Given the description of an element on the screen output the (x, y) to click on. 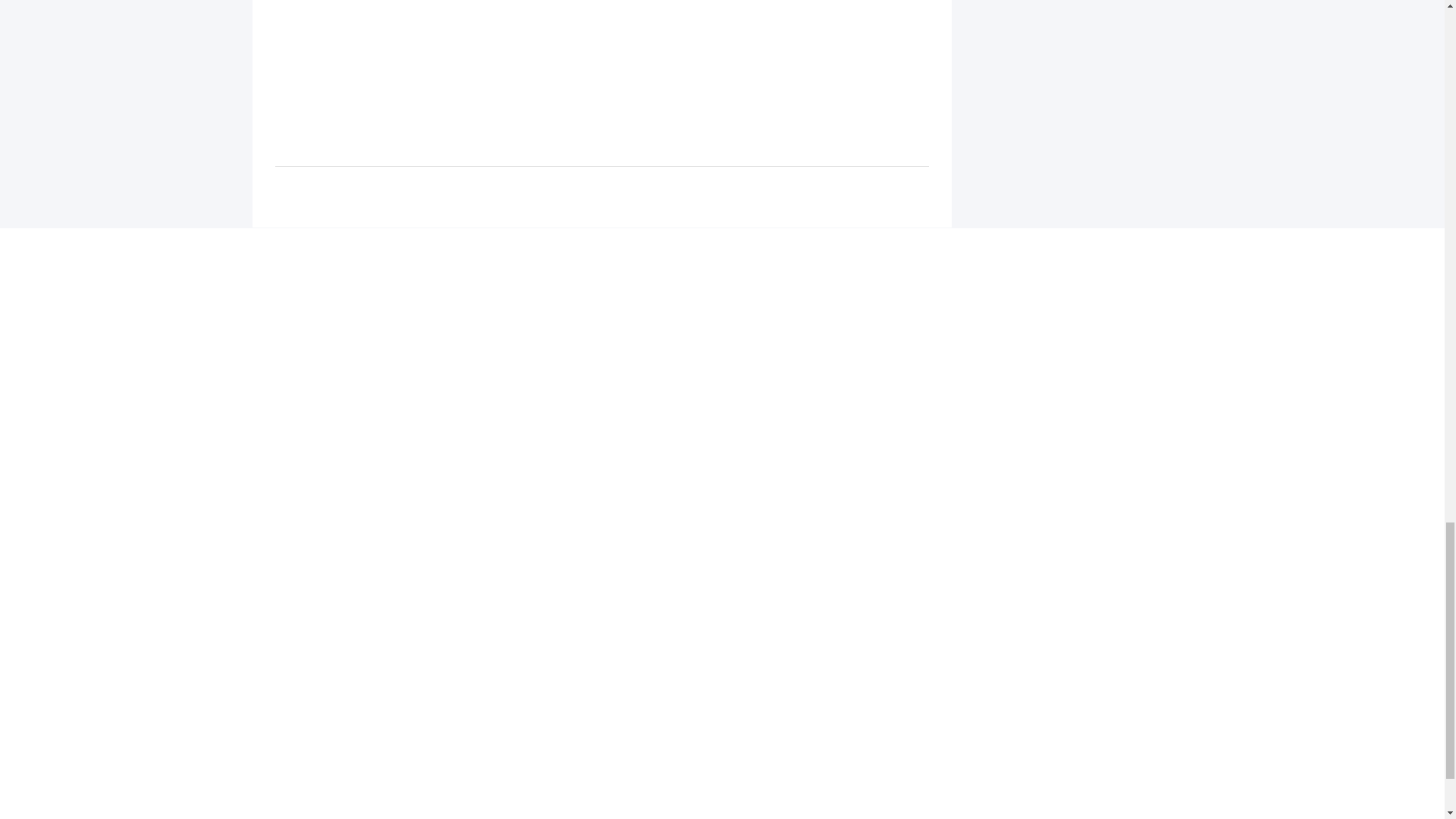
Eastern Mirror (721, 356)
